Given the description of an element on the screen output the (x, y) to click on. 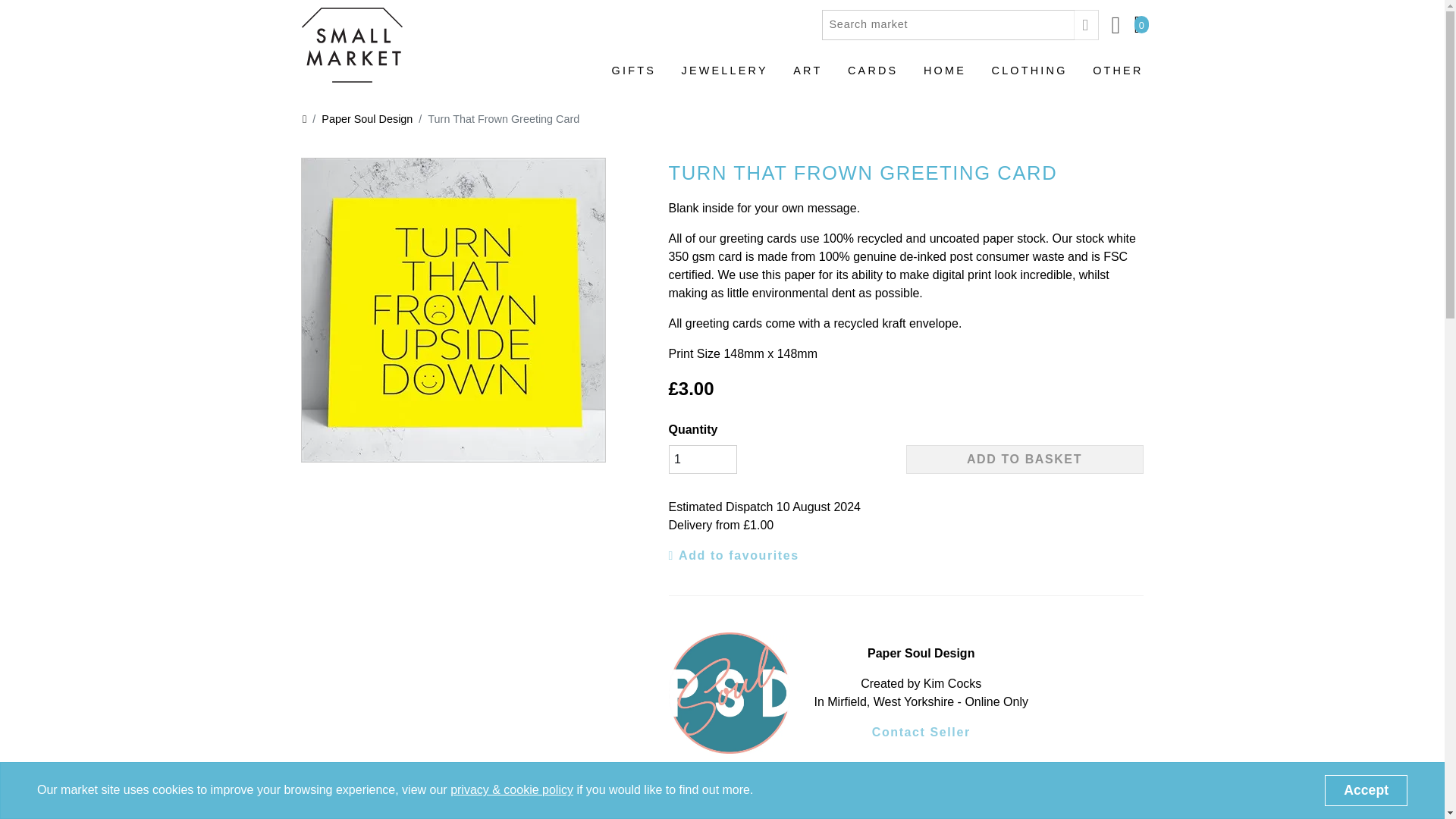
Paper Soul Design (920, 653)
Add to favourites (733, 556)
OTHER (1117, 77)
ART (807, 77)
Paper Soul Design (358, 119)
HOME (944, 77)
ADD TO BASKET (1023, 459)
CARDS (872, 77)
CLOTHING (1029, 77)
JEWELLERY (724, 77)
Contact Seller (920, 732)
1 (702, 459)
